Given the description of an element on the screen output the (x, y) to click on. 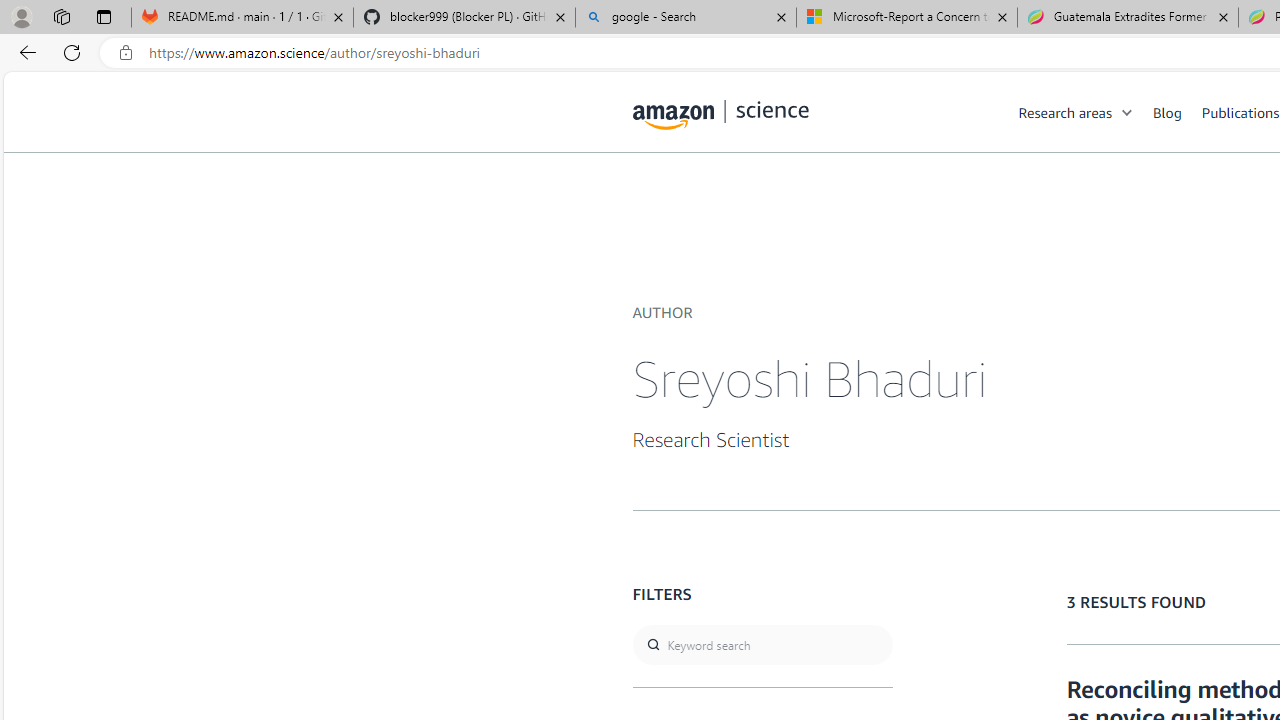
search (762, 645)
Blog (1167, 111)
home page (721, 110)
google - Search (686, 17)
Blog (1177, 111)
Research areas (1085, 111)
Class: icon-magnify (654, 192)
